Given the description of an element on the screen output the (x, y) to click on. 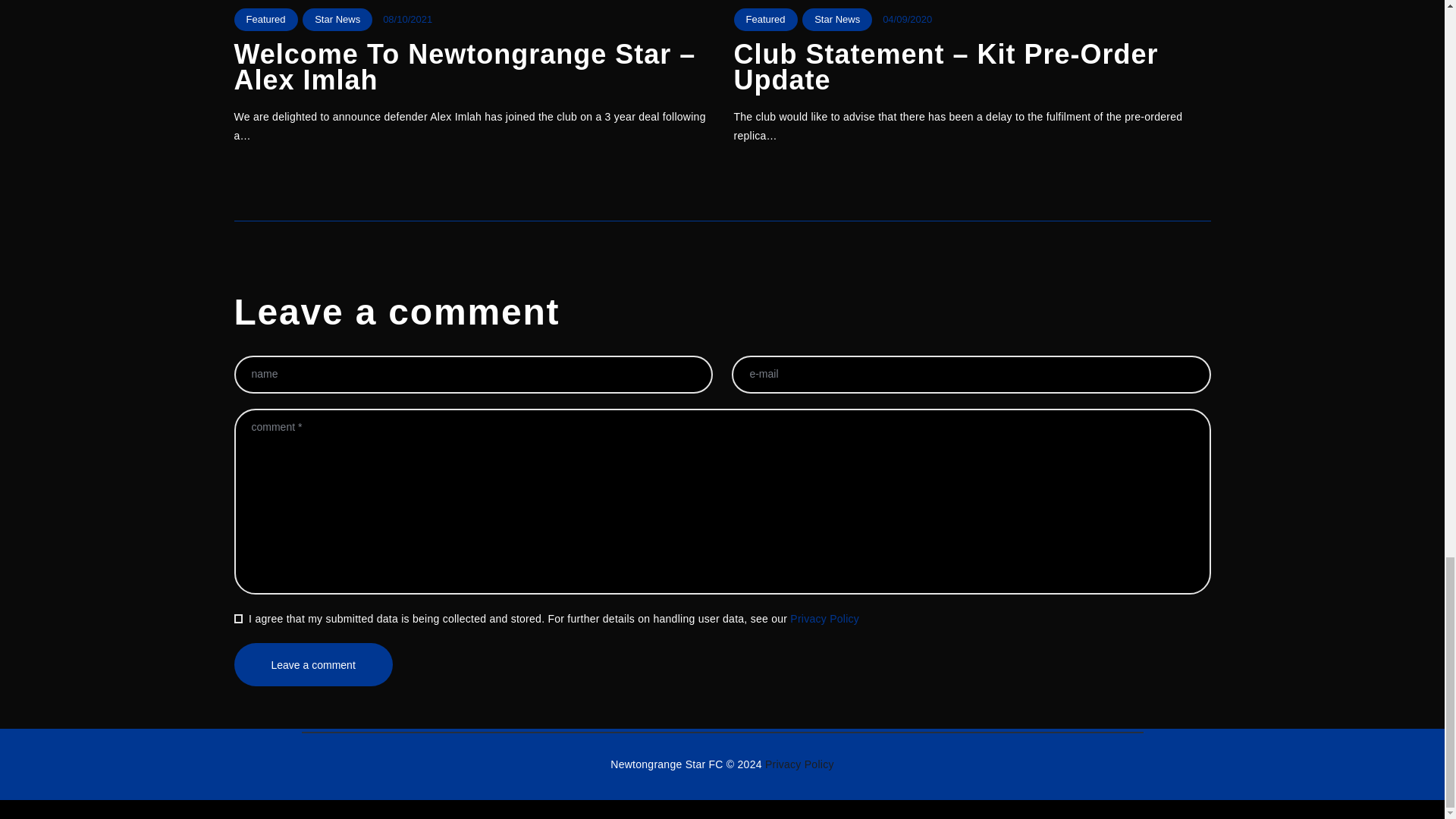
Leave a comment (311, 664)
